Given the description of an element on the screen output the (x, y) to click on. 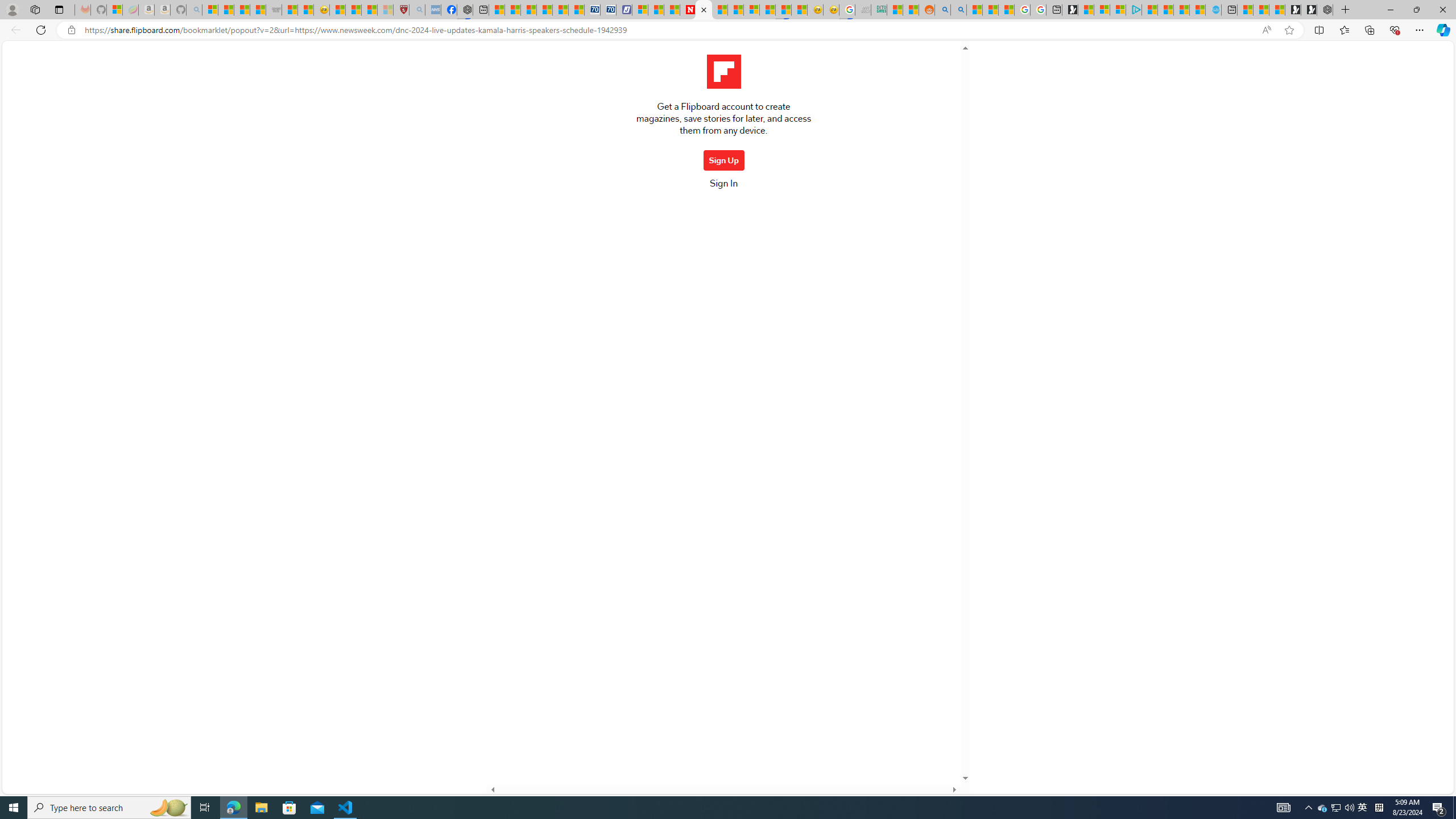
Cheap Car Rentals - Save70.com (592, 9)
NCL Adult Asthma Inhaler Choice Guideline - Sleeping (432, 9)
Home | Sky Blue Bikes - Sky Blue Bikes (1213, 9)
Newsweek - News, Analysis, Politics, Business, Technology (687, 9)
